Given the description of an element on the screen output the (x, y) to click on. 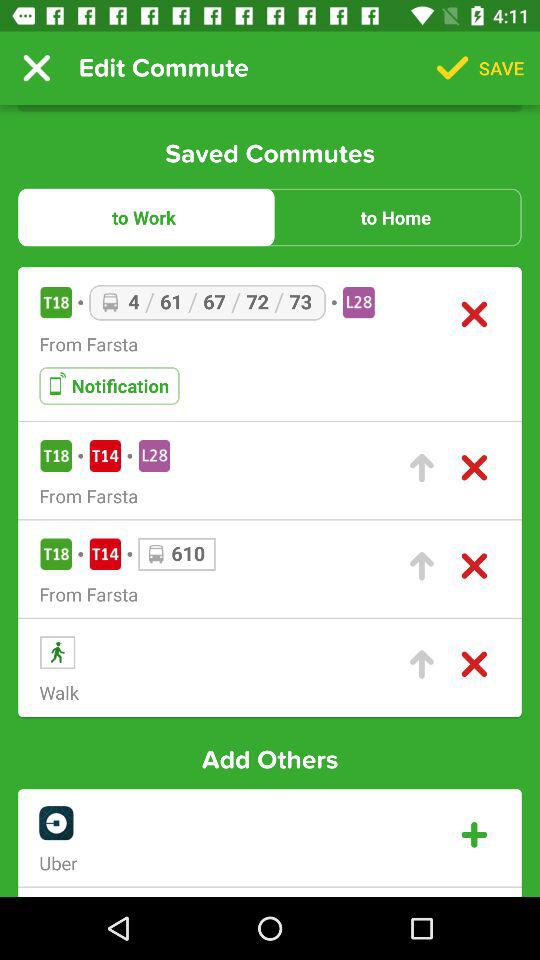
upload button (421, 467)
